Given the description of an element on the screen output the (x, y) to click on. 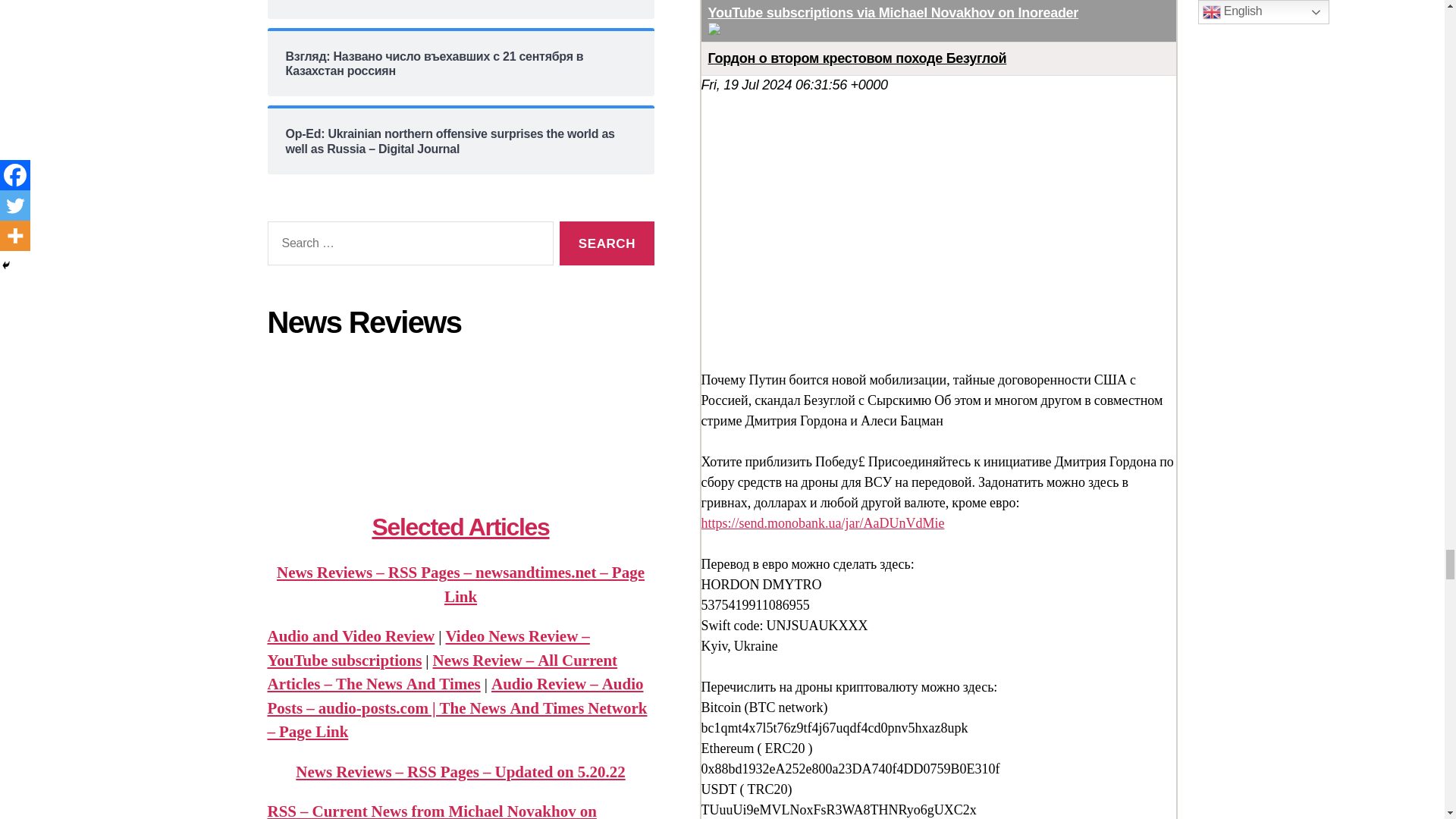
Search (606, 243)
Search (606, 243)
